Given the description of an element on the screen output the (x, y) to click on. 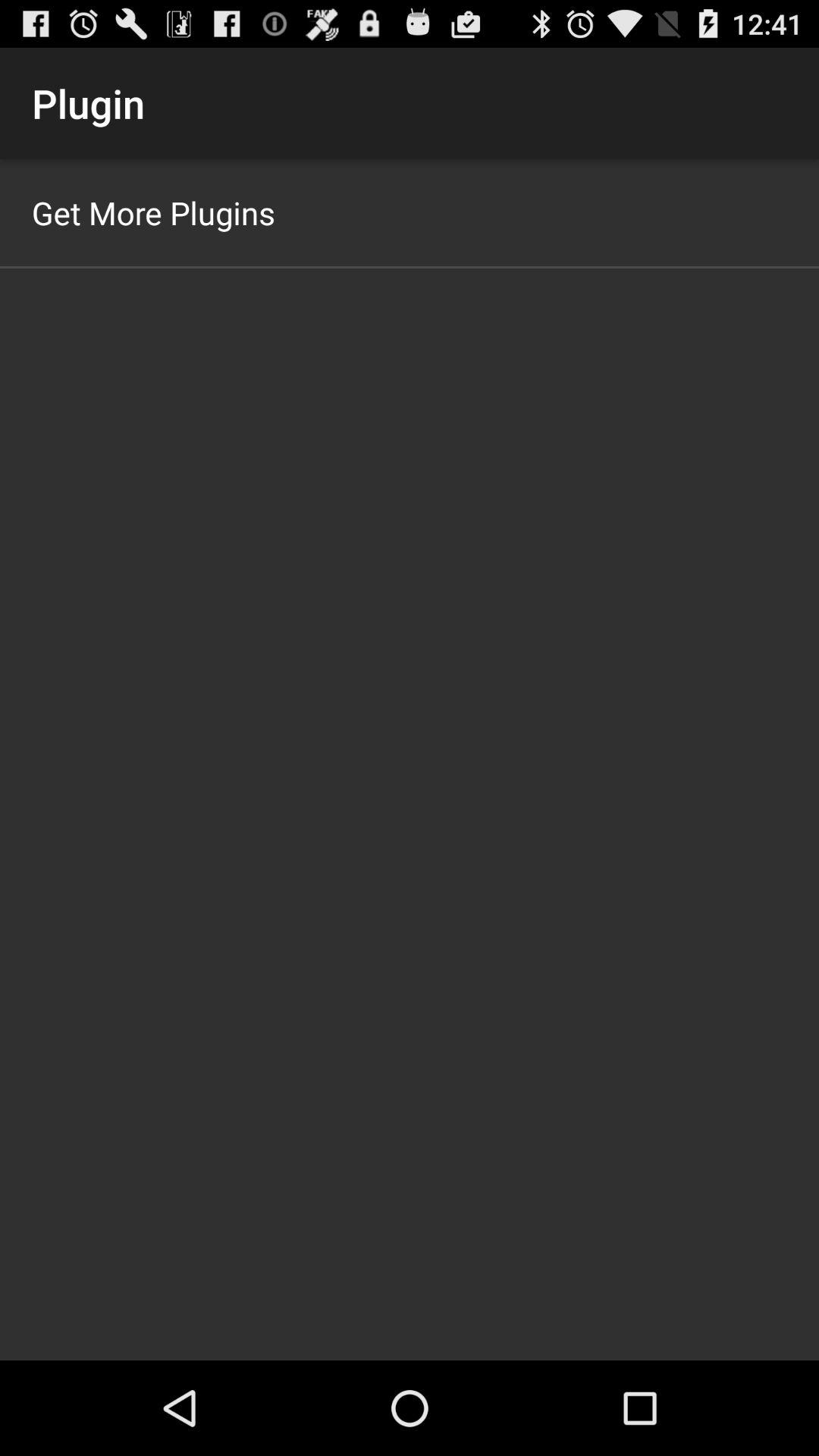
select icon below plugin (153, 212)
